Given the description of an element on the screen output the (x, y) to click on. 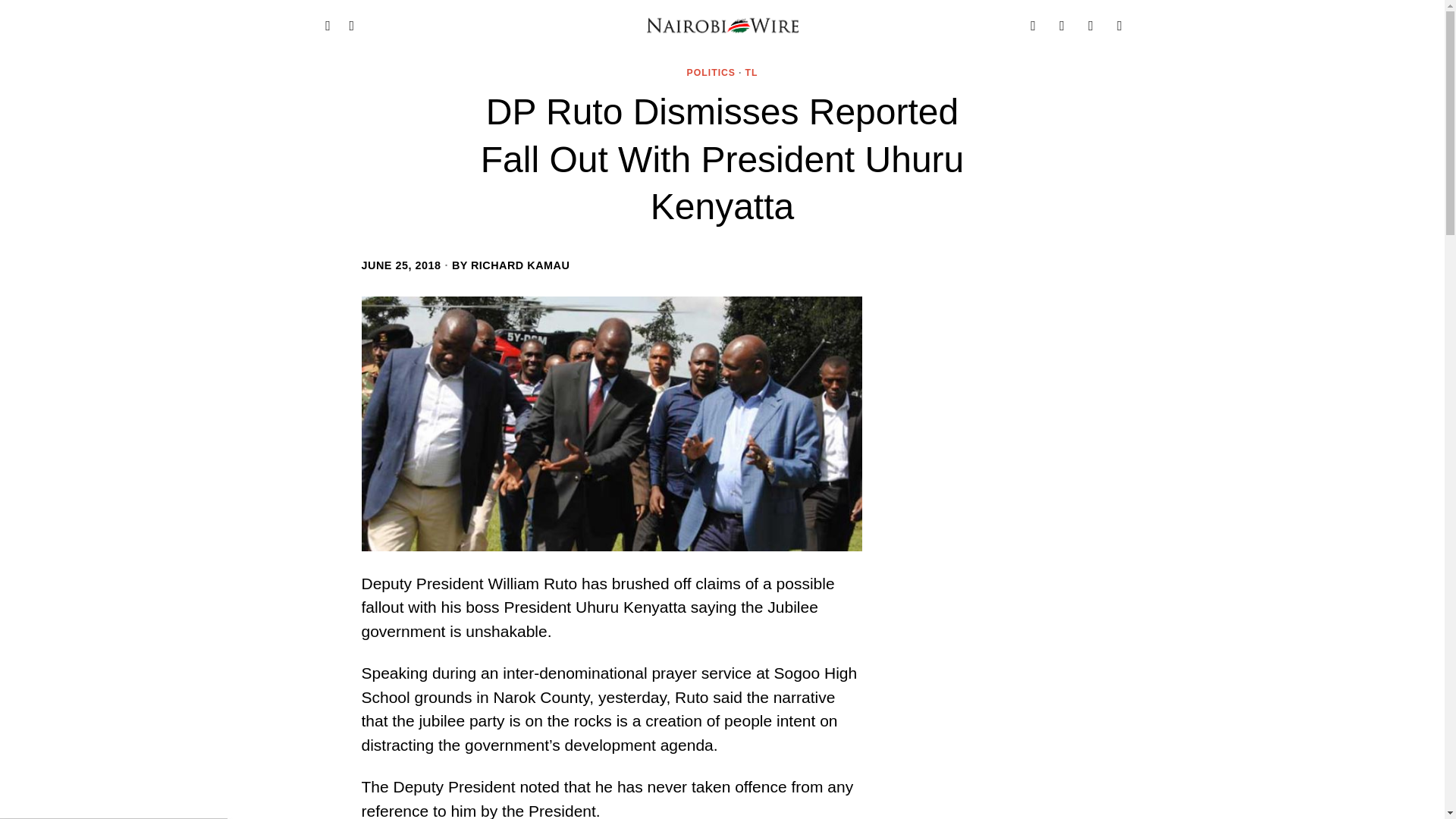
TL (750, 73)
POLITICS (711, 73)
RICHARD KAMAU (519, 264)
25 Jun, 2018 06:54:50 (401, 264)
